Given the description of an element on the screen output the (x, y) to click on. 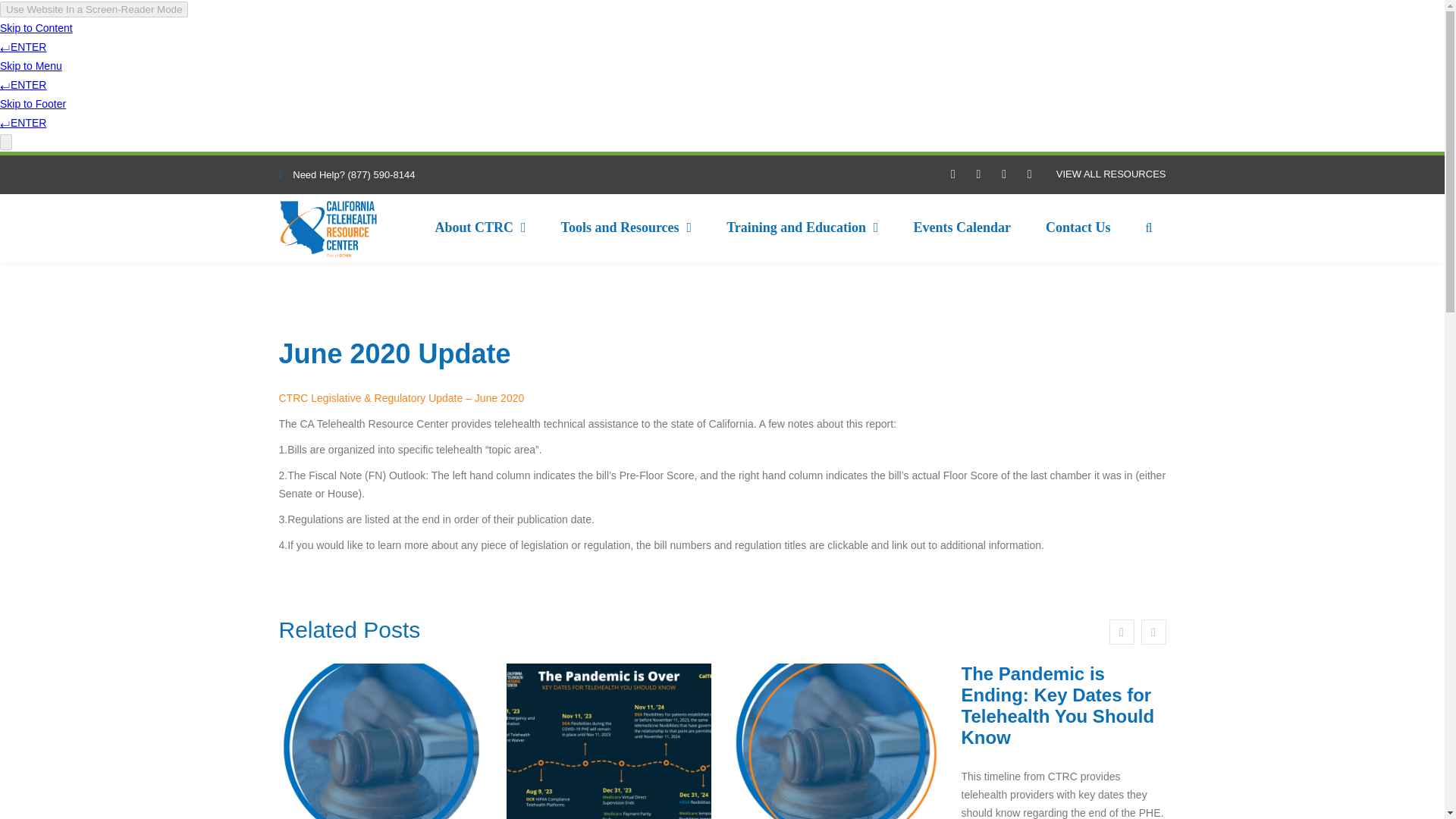
VIEW ALL RESOURCES (1111, 173)
California Telehealth Resource Center (328, 228)
Training and Education (802, 228)
About CTRC (479, 228)
Tools and Resources (626, 228)
Contact Us (1077, 228)
June 2020 Update (395, 353)
Events Calendar (961, 228)
